Given the description of an element on the screen output the (x, y) to click on. 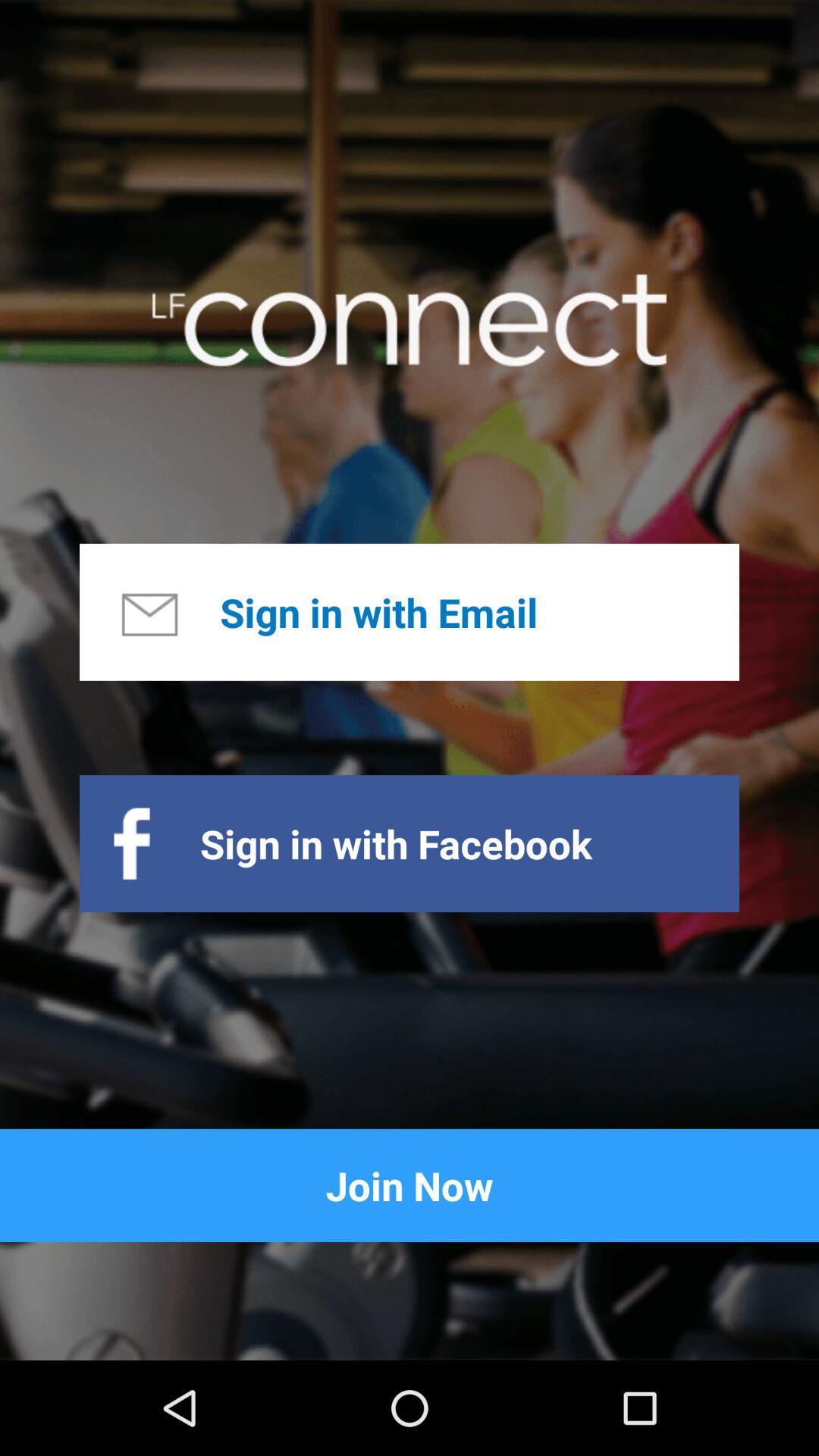
choose the join now at the bottom (409, 1185)
